Given the description of an element on the screen output the (x, y) to click on. 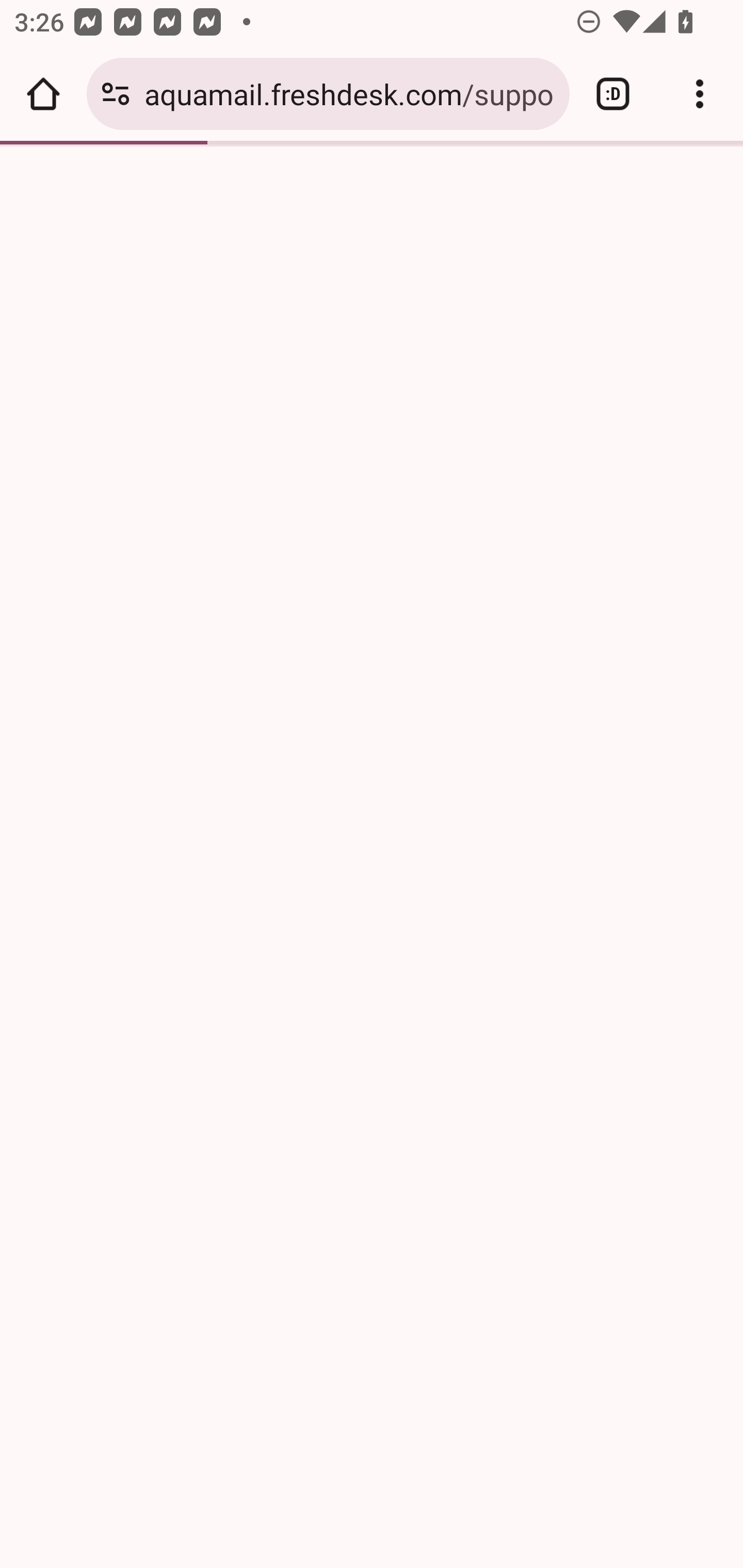
Open the home page (43, 93)
Connection is secure (115, 93)
Switch or close tabs (612, 93)
Customize and control Google Chrome (699, 93)
aquamail.freshdesk.com/support/home (349, 92)
